Given the description of an element on the screen output the (x, y) to click on. 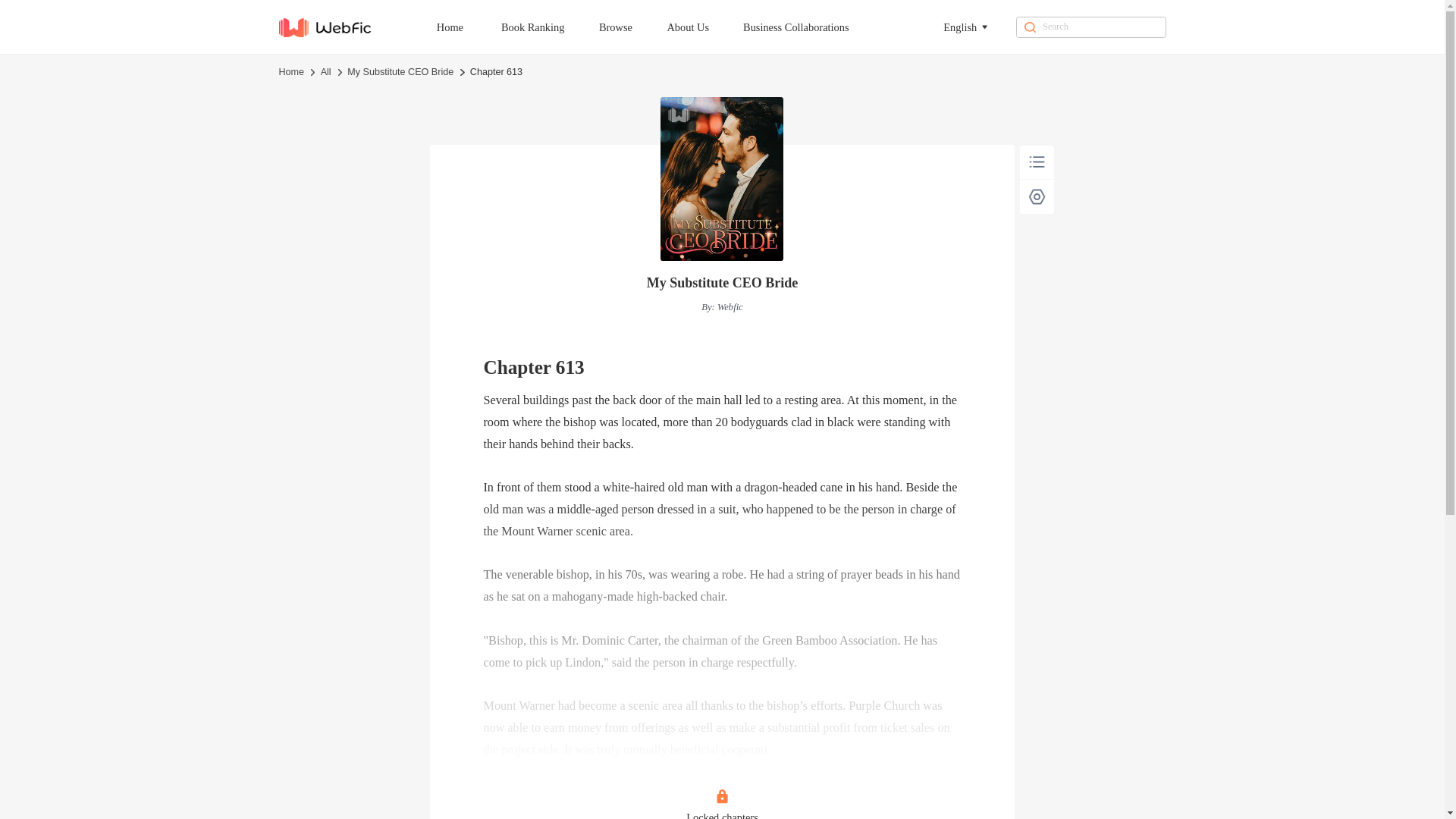
Business Collaborations (812, 27)
Browse (632, 27)
Book Ranking (549, 27)
About Us (704, 27)
My Substitute CEO Bride (721, 283)
Home (291, 72)
Home (466, 27)
My Substitute CEO Bride (399, 72)
